Given the description of an element on the screen output the (x, y) to click on. 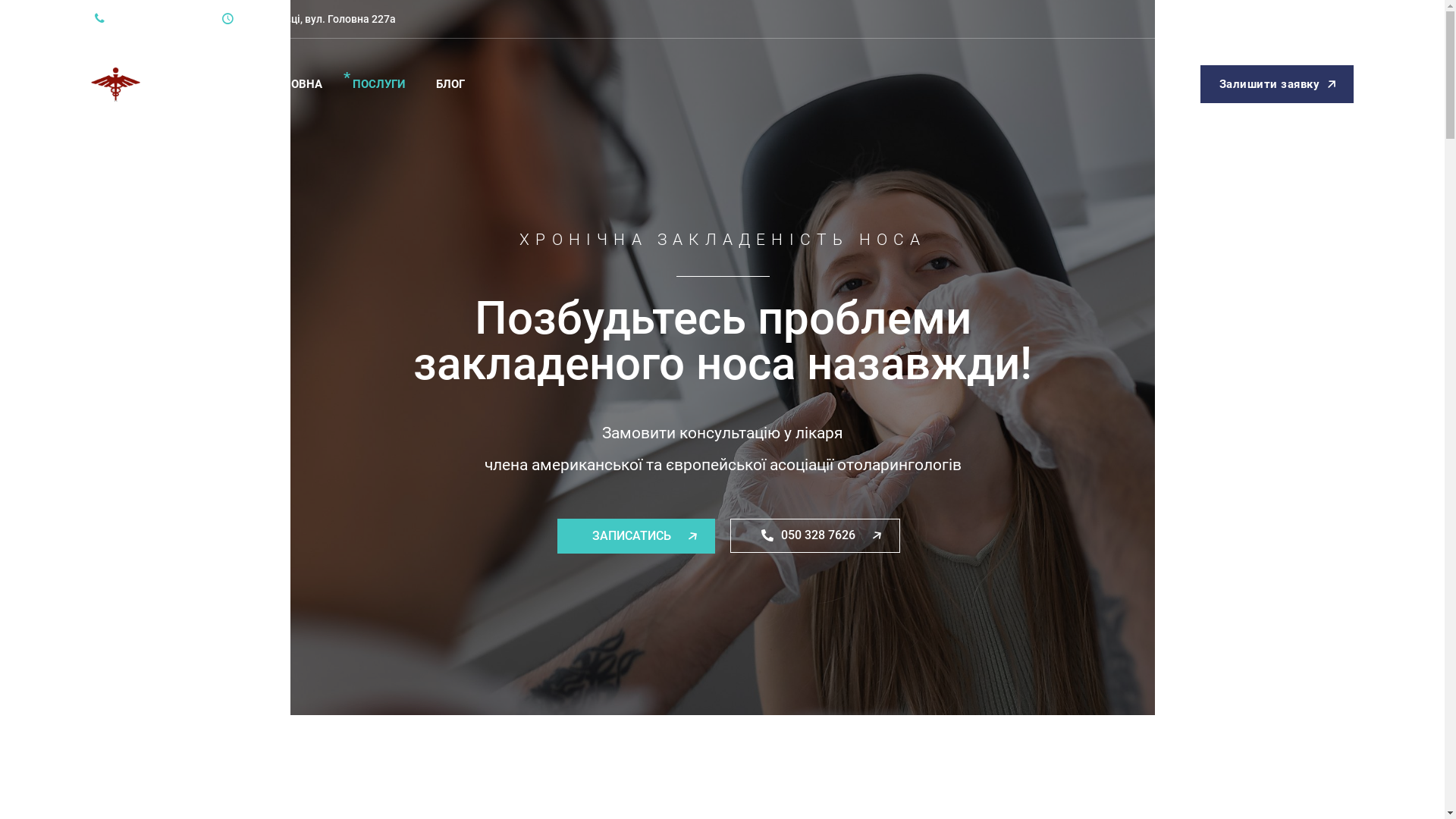
050 328 76 26 Element type: text (136, 18)
050 328 7626 Element type: text (815, 535)
